Given the description of an element on the screen output the (x, y) to click on. 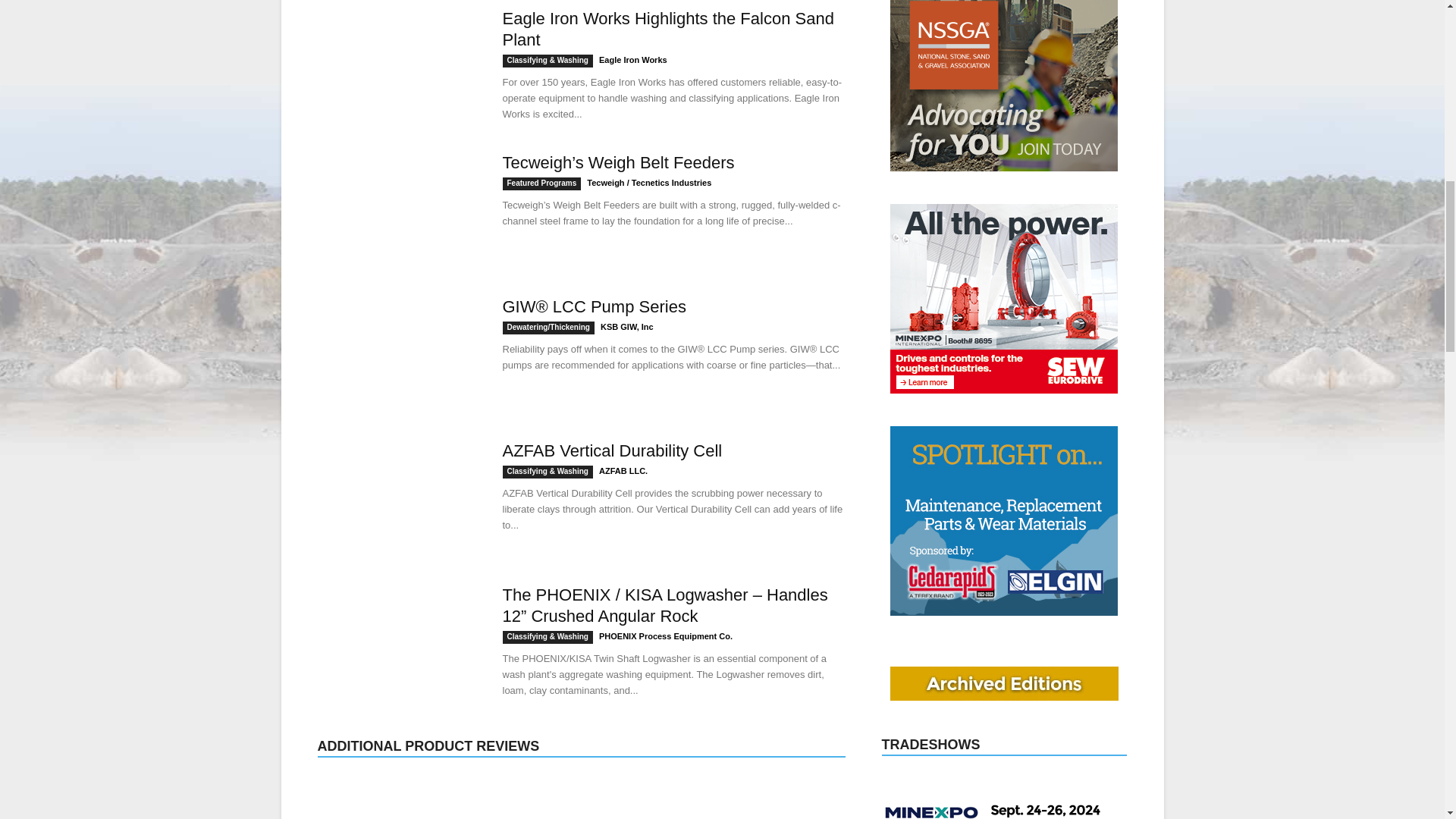
Eagle Iron Works Highlights the Falcon Sand Plant (399, 65)
Eagle Iron Works Highlights the Falcon Sand Plant (667, 29)
